Given the description of an element on the screen output the (x, y) to click on. 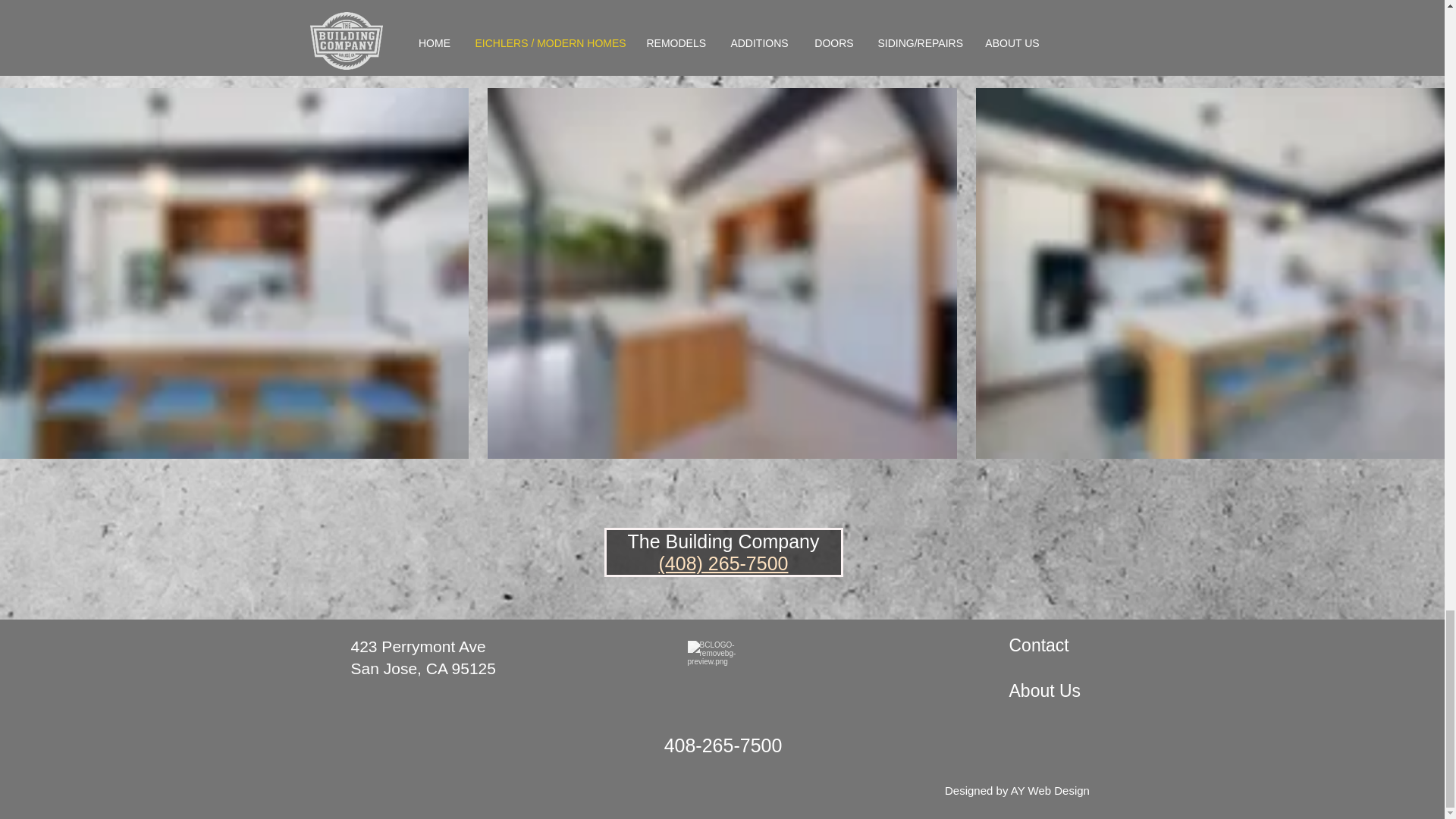
About Us (1044, 690)
Designed by AY Web Design (1016, 789)
408-265-7500 (723, 744)
Contact (1038, 645)
